Given the description of an element on the screen output the (x, y) to click on. 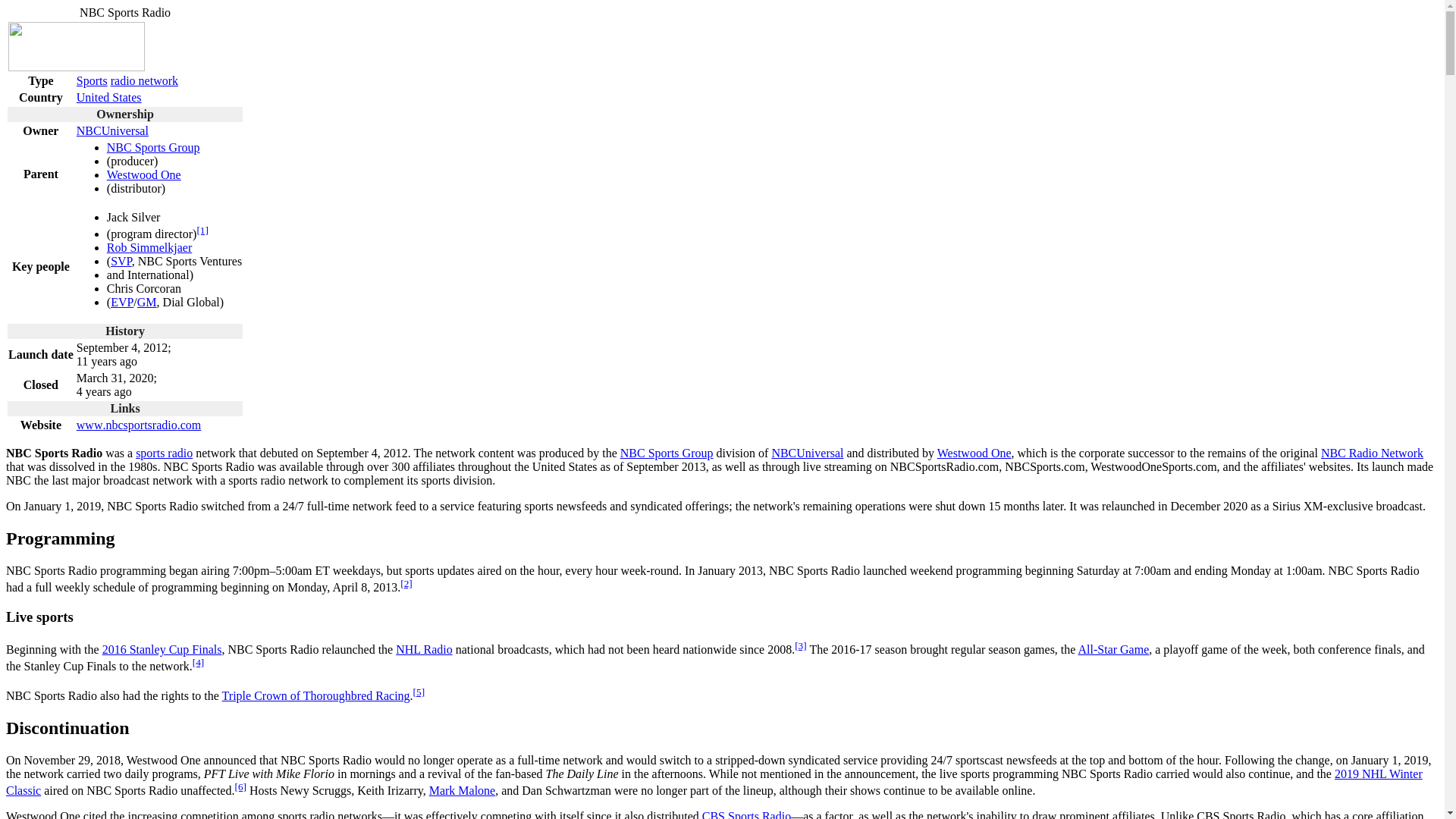
Westwood One (974, 452)
Senior vice president (121, 260)
www.nbcsportsradio.com (138, 424)
Sports radio (92, 80)
Sports radio (163, 452)
Radio network (143, 80)
United States (109, 97)
Executive vice president (121, 301)
Triple Crown of Thoroughbred Racing (316, 695)
Mark Malone (462, 789)
NBC Sports Group (666, 452)
NHL Radio (424, 649)
NBC Radio Network (1371, 452)
2019 NHL Winter Classic (713, 781)
Rob Simmelkjaer (149, 246)
